Given the description of an element on the screen output the (x, y) to click on. 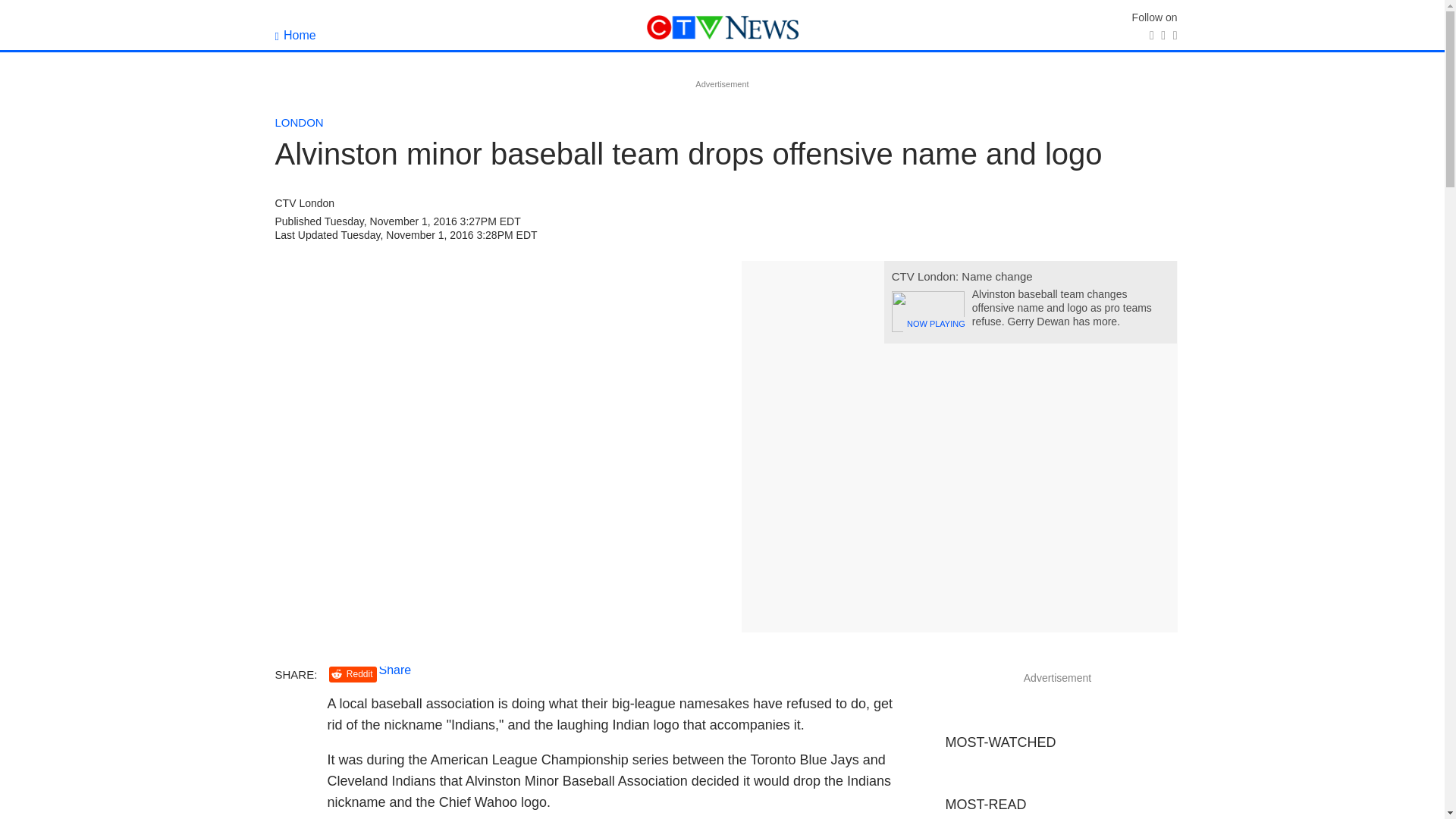
Reddit (353, 674)
  NOW PLAYING (927, 311)
CTV London: Name change (961, 276)
LONDON (299, 122)
Home (295, 34)
Share (395, 669)
